Given the description of an element on the screen output the (x, y) to click on. 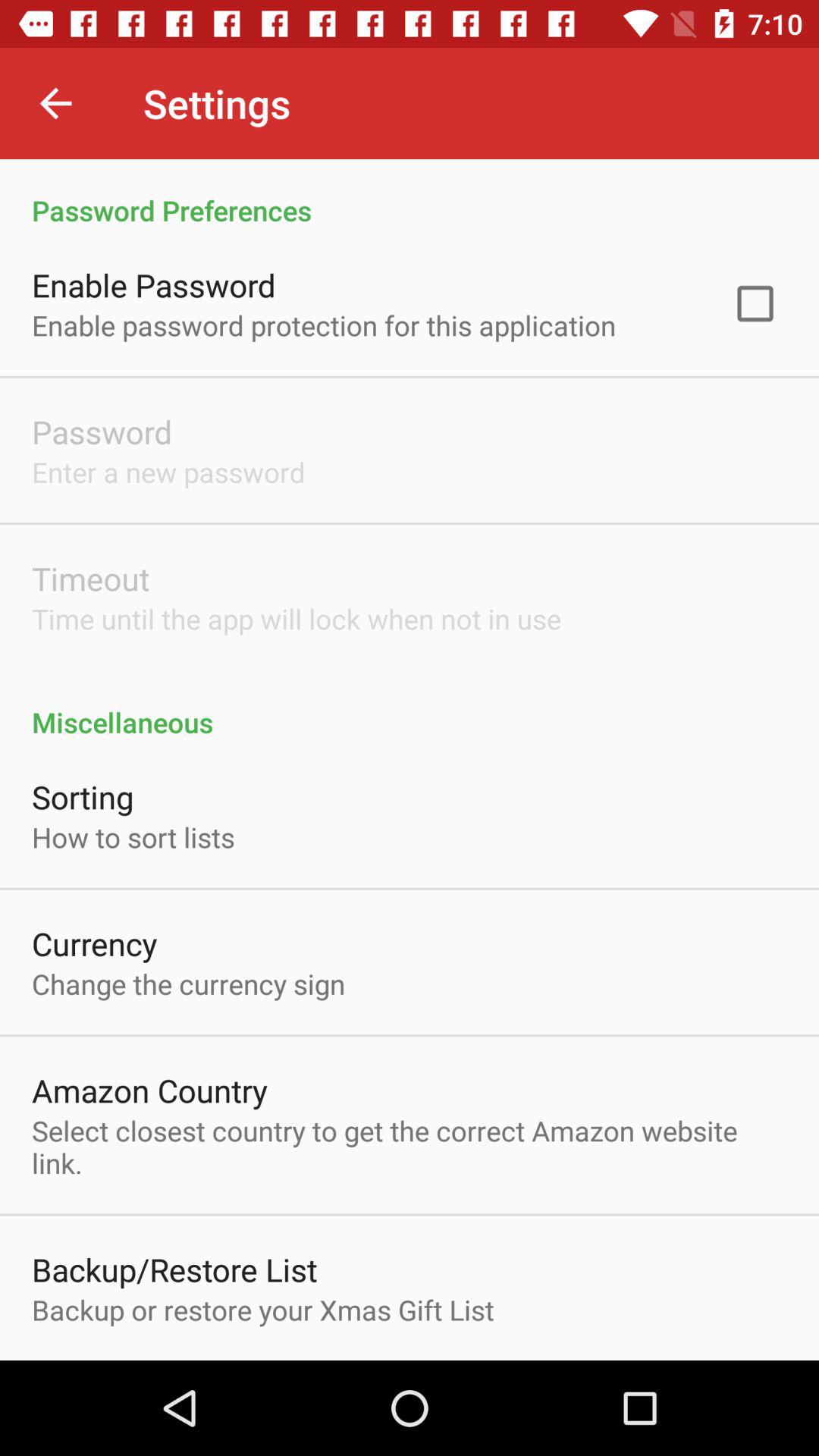
tap the icon above the timeout item (168, 471)
